Given the description of an element on the screen output the (x, y) to click on. 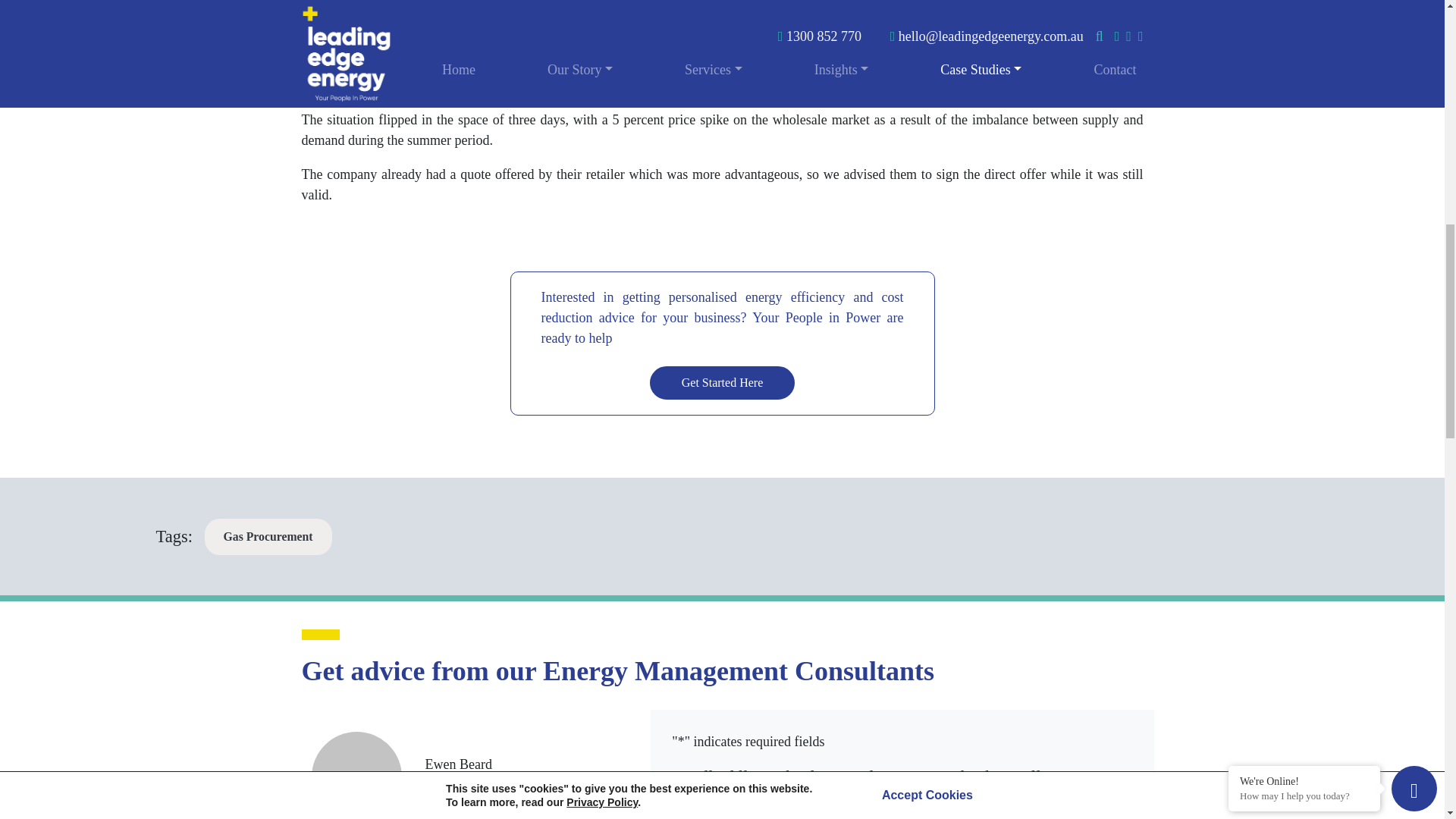
Gas Procurement (268, 536)
Get Started Here (721, 382)
0481 345 181 (492, 785)
